Given the description of an element on the screen output the (x, y) to click on. 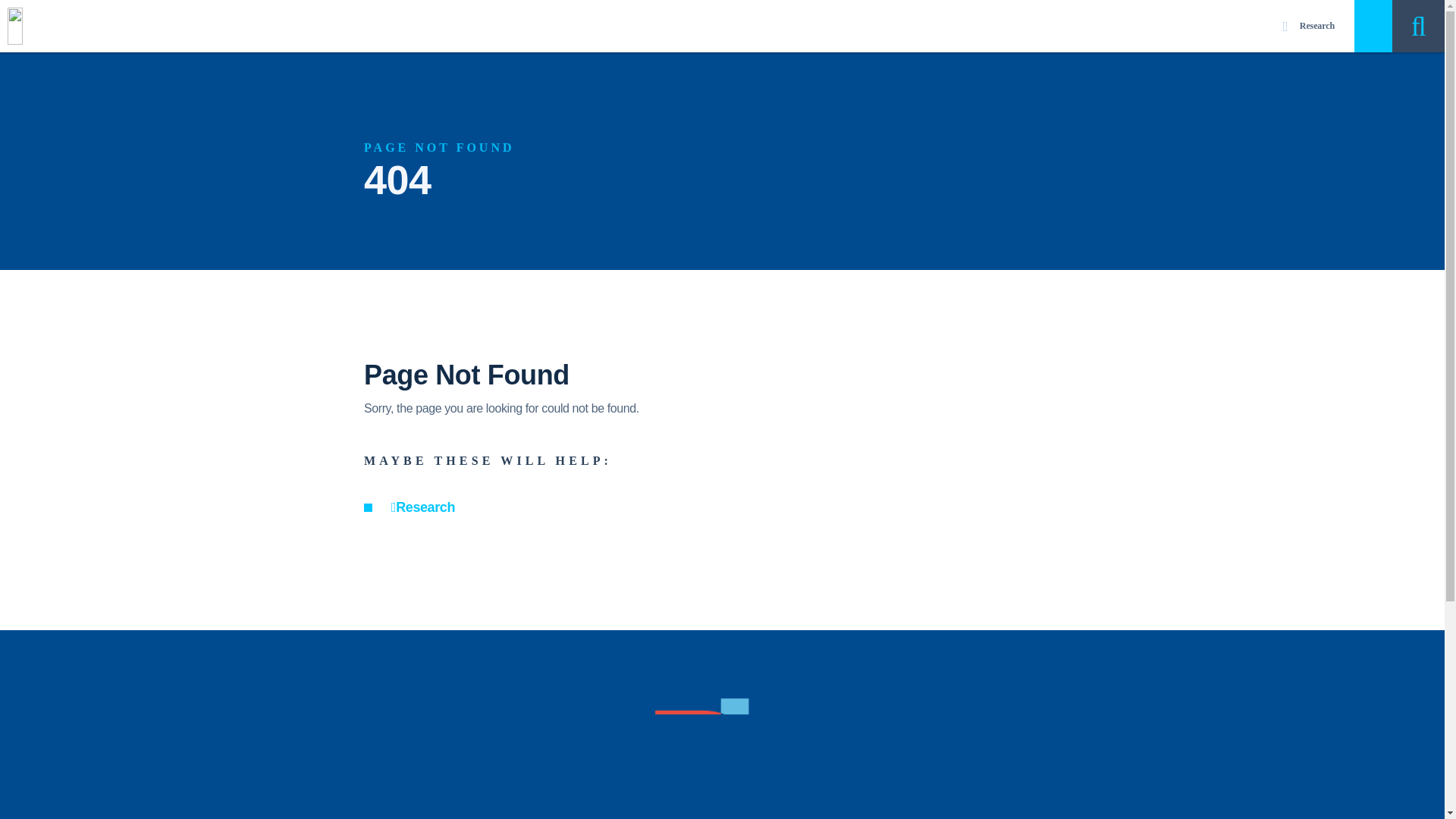
Research (422, 507)
BARBARA LEE FAMILY FOUNDATION (721, 758)
Research (1308, 26)
